Given the description of an element on the screen output the (x, y) to click on. 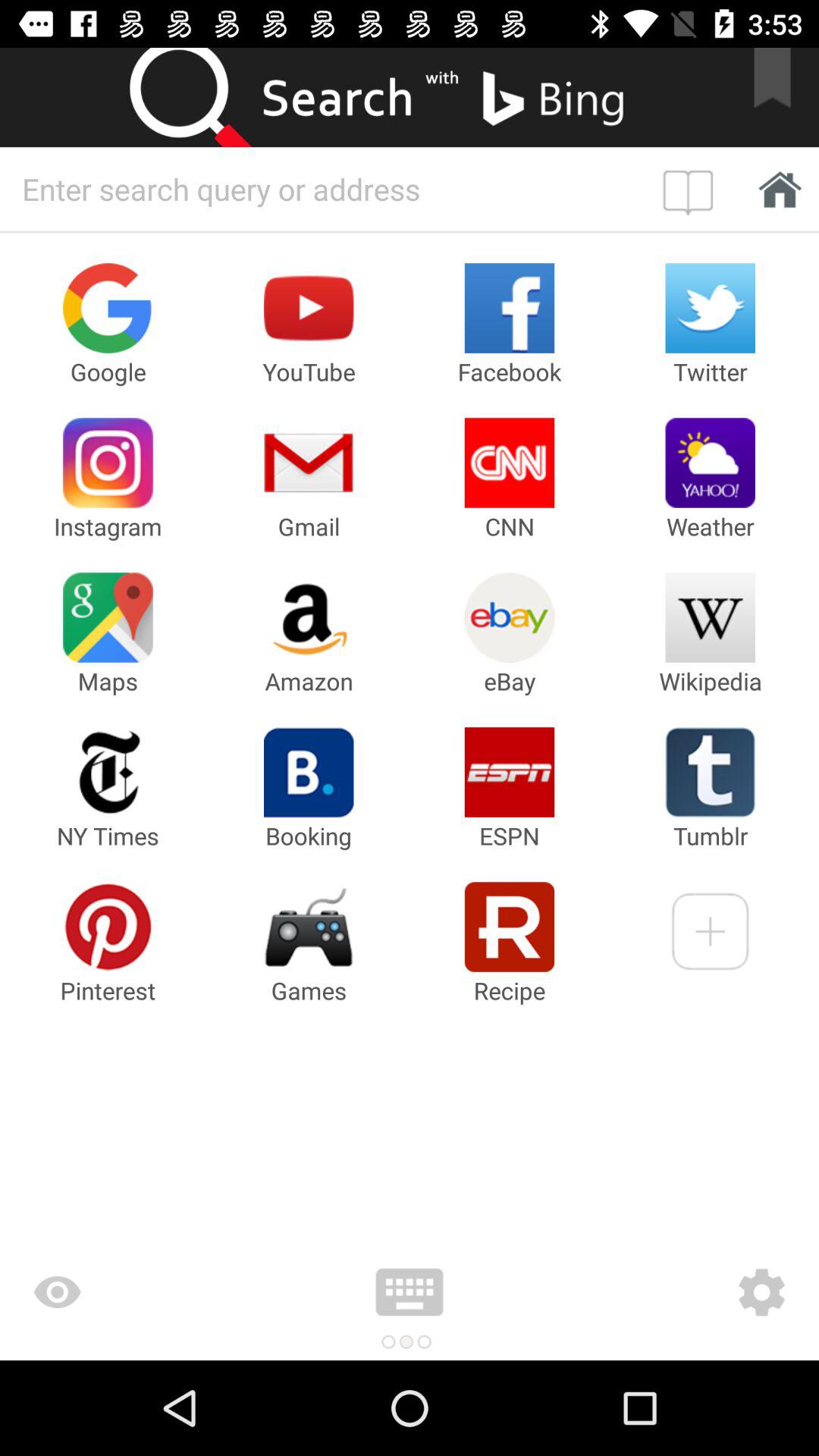
bookmark (782, 97)
